Given the description of an element on the screen output the (x, y) to click on. 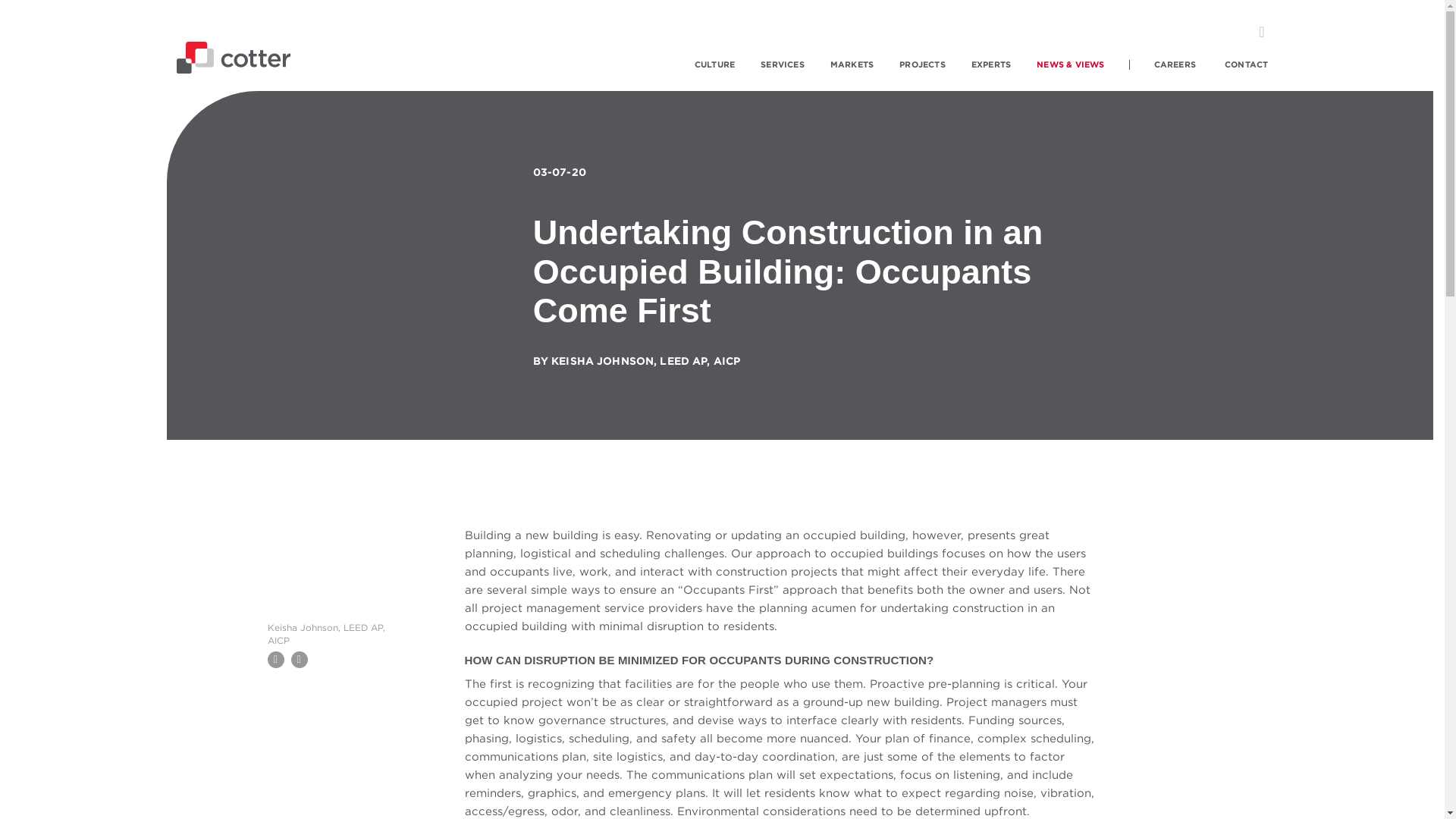
LinkedIn (299, 659)
CONTACT (1246, 64)
Keisha Johnson, LEED AP, AICP (331, 588)
Email (274, 659)
CULTURE (714, 64)
PROJECTS (921, 64)
MARKETS (851, 64)
SERVICES (782, 64)
EXPERTS (990, 64)
Search (1260, 32)
CAREERS (1174, 64)
